Given the description of an element on the screen output the (x, y) to click on. 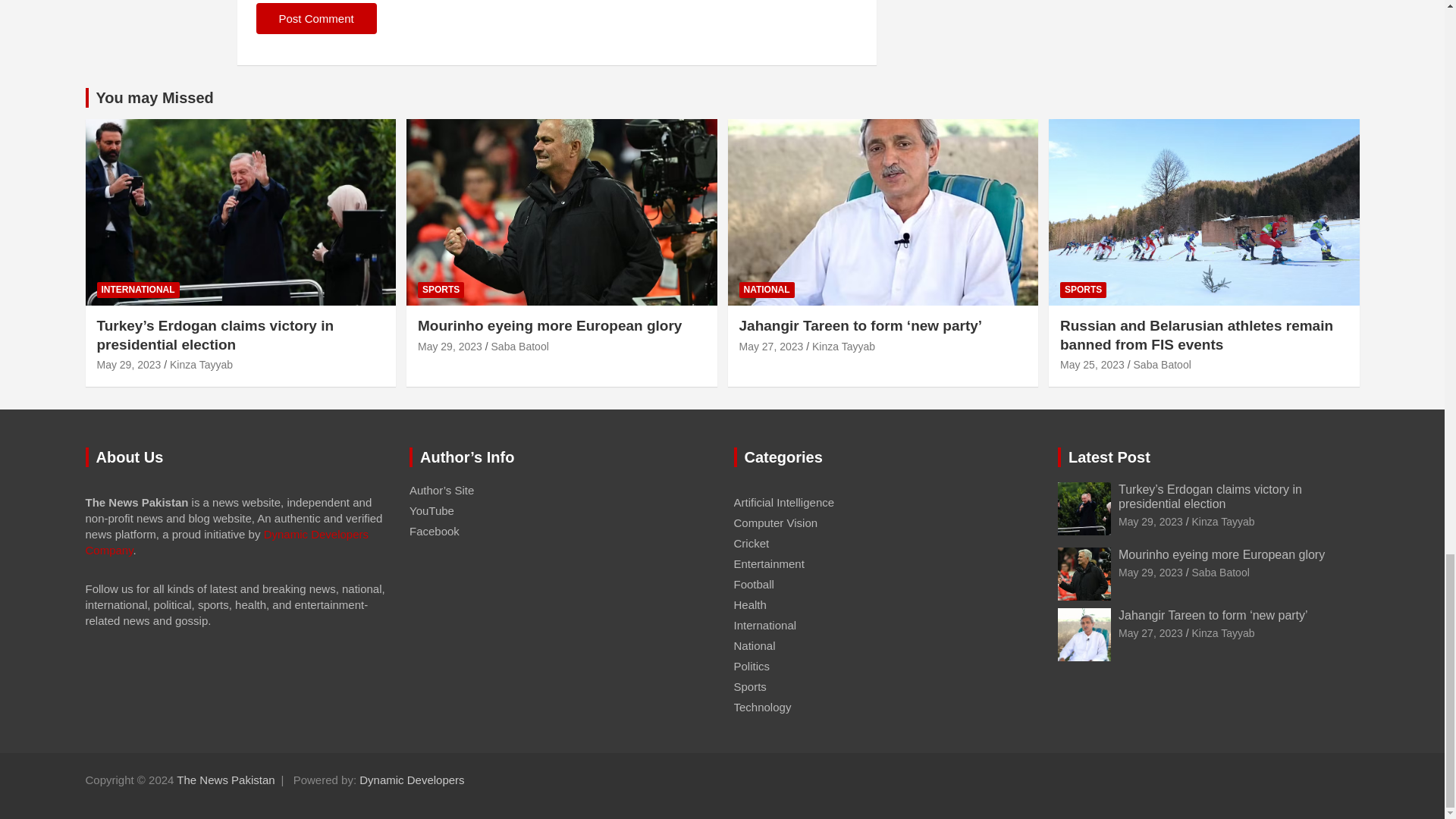
The News Pakistan (225, 779)
Post Comment (316, 18)
Mourinho eyeing more European glory (1150, 572)
Post Comment (316, 18)
Mourinho eyeing more European glory (449, 345)
